Given the description of an element on the screen output the (x, y) to click on. 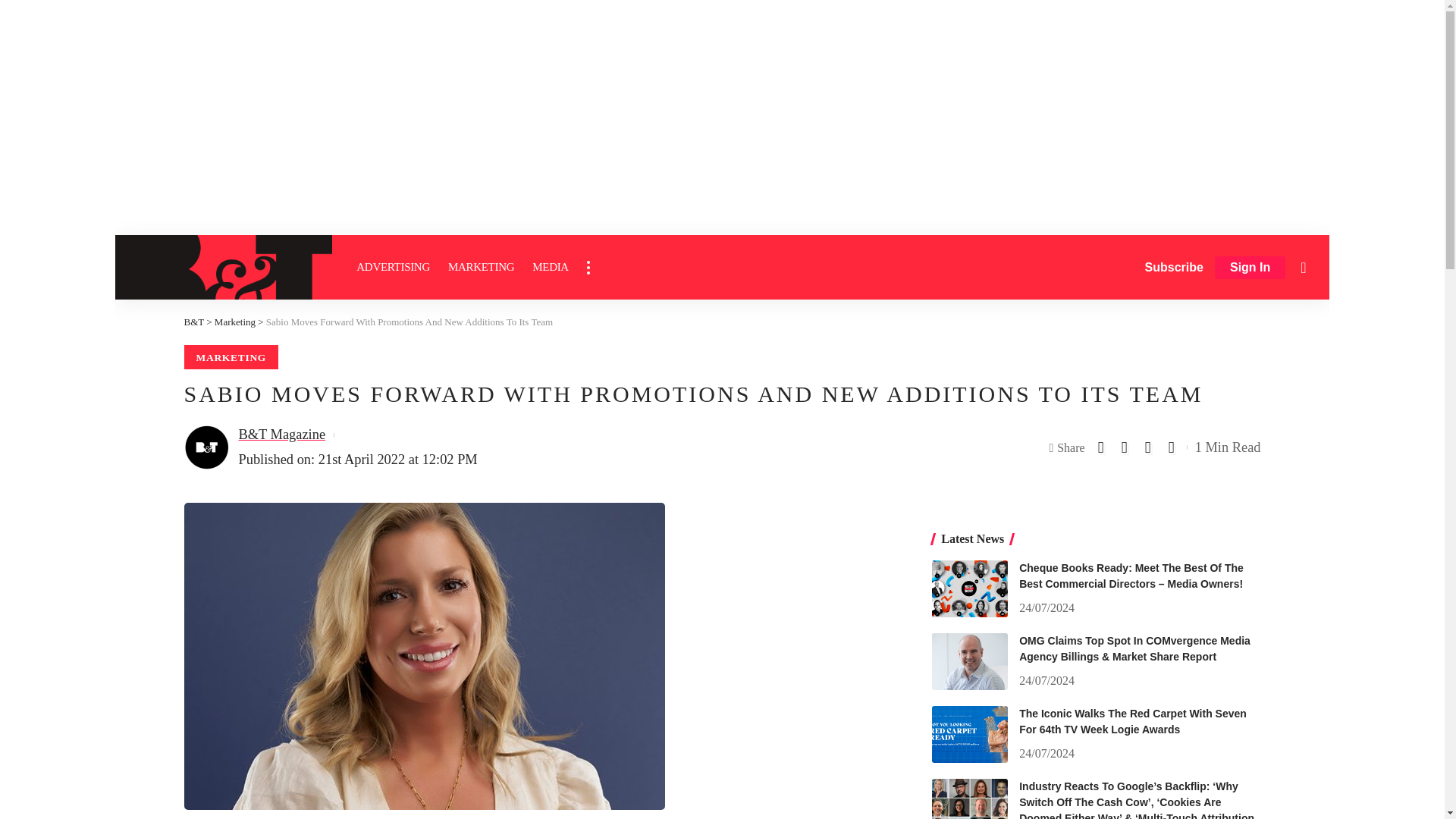
Go to the Marketing Category archives. (235, 321)
ADVERTISING (393, 267)
Subscribe (1174, 267)
Sign In (1249, 267)
MARKETING (480, 267)
